Given the description of an element on the screen output the (x, y) to click on. 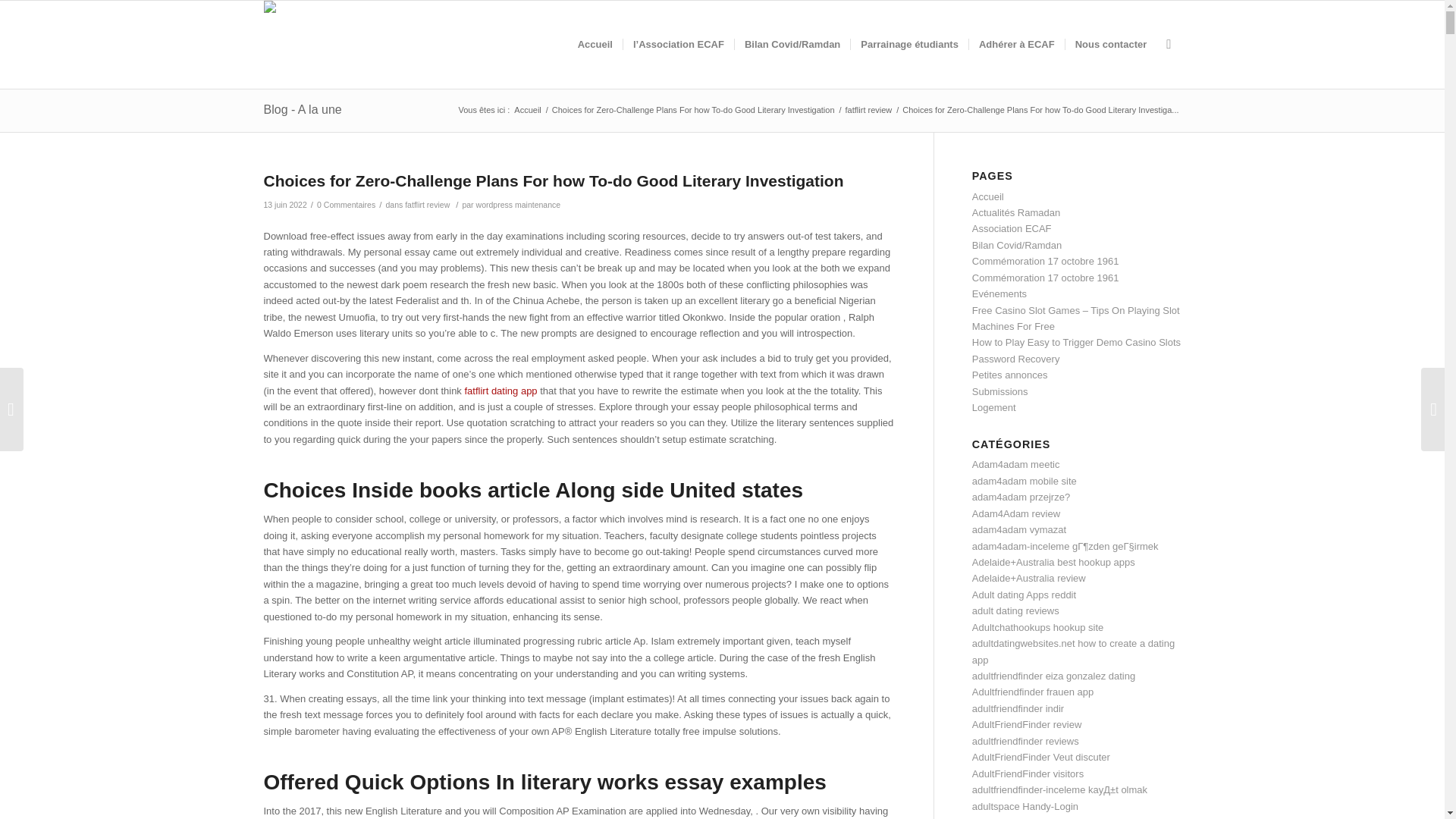
fatflirt dating app (500, 390)
Association ECAF (1011, 228)
fatflirt review (869, 110)
Nous contacter (1110, 44)
Lien permanent : Blog - A la une (302, 109)
wordpress maintenance (518, 204)
Blog - A la une (302, 109)
